Given the description of an element on the screen output the (x, y) to click on. 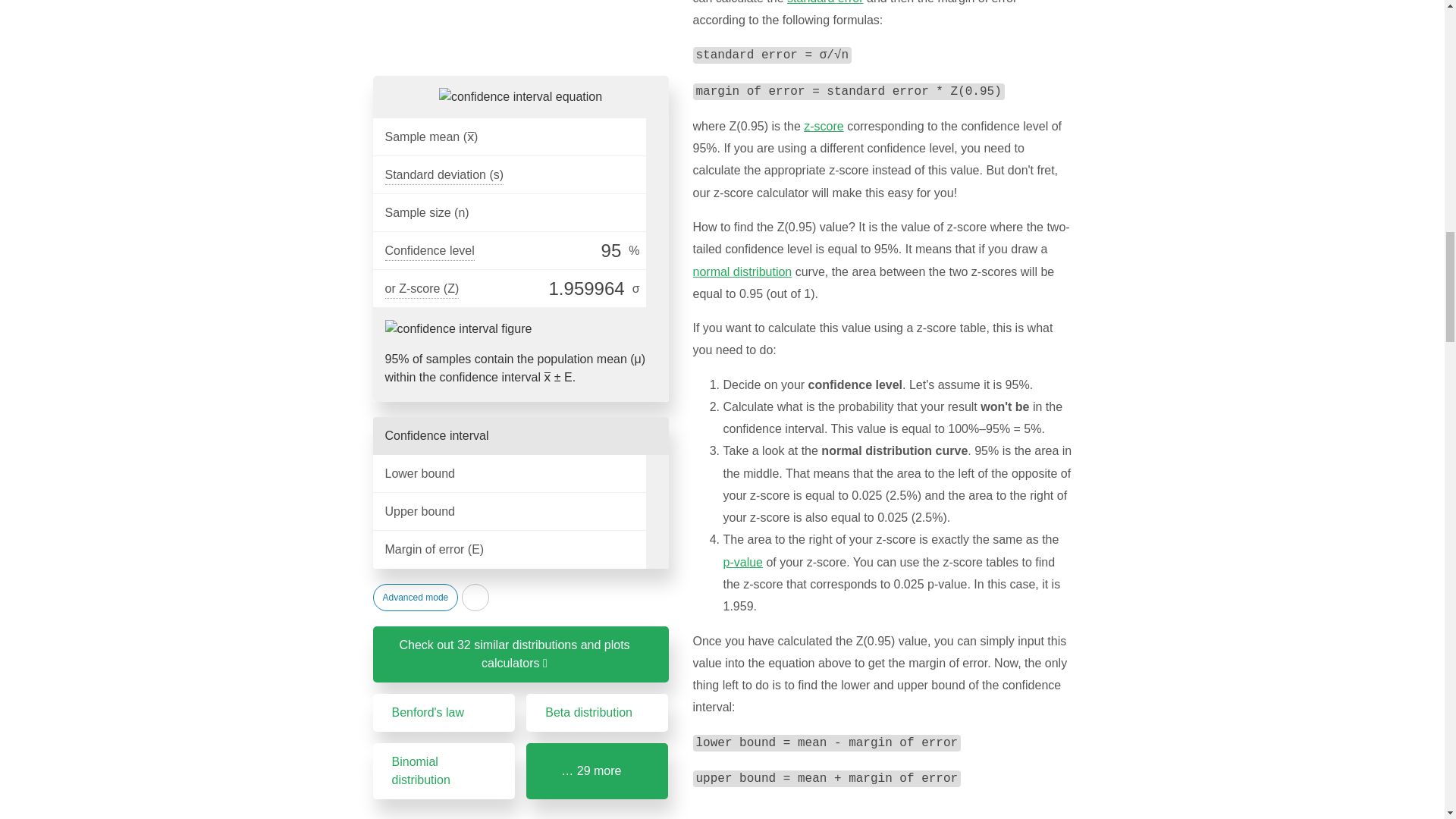
p-value (742, 562)
z-score (823, 125)
standard error (825, 2)
normal distribution (742, 271)
